Given the description of an element on the screen output the (x, y) to click on. 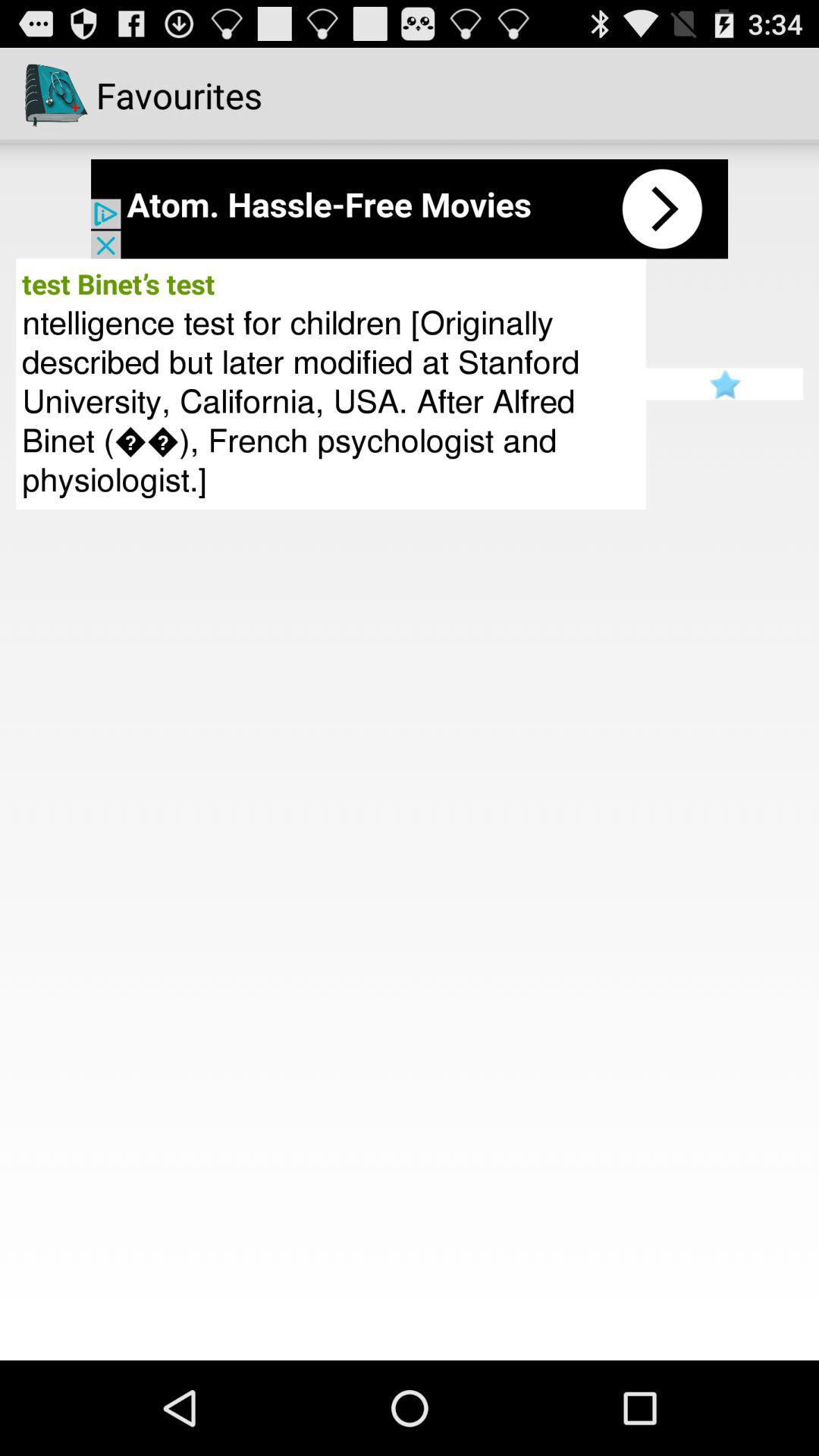
favourite (724, 383)
